Given the description of an element on the screen output the (x, y) to click on. 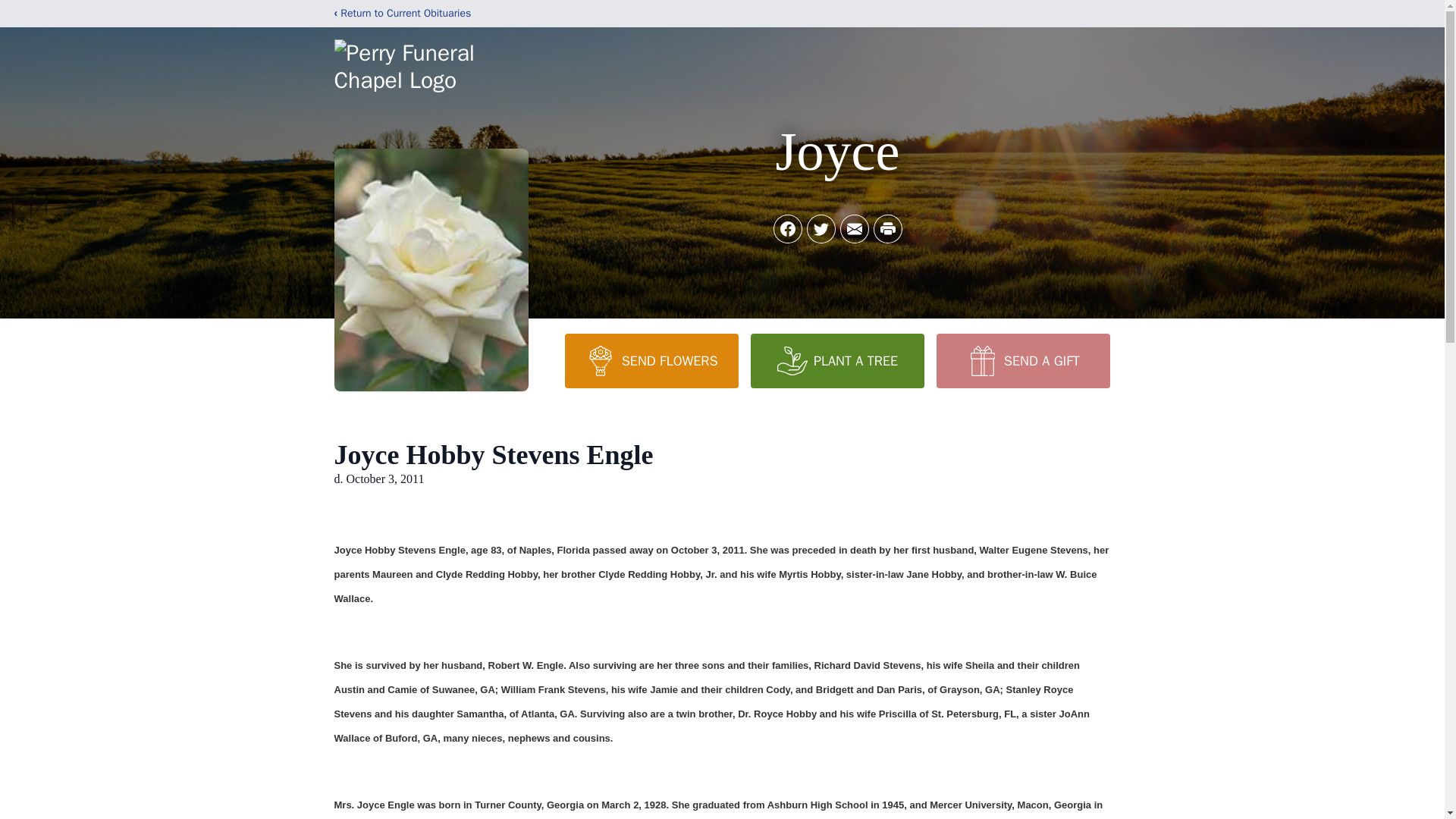
SEND A GIFT (1022, 360)
PLANT A TREE (837, 360)
SEND FLOWERS (651, 360)
